Given the description of an element on the screen output the (x, y) to click on. 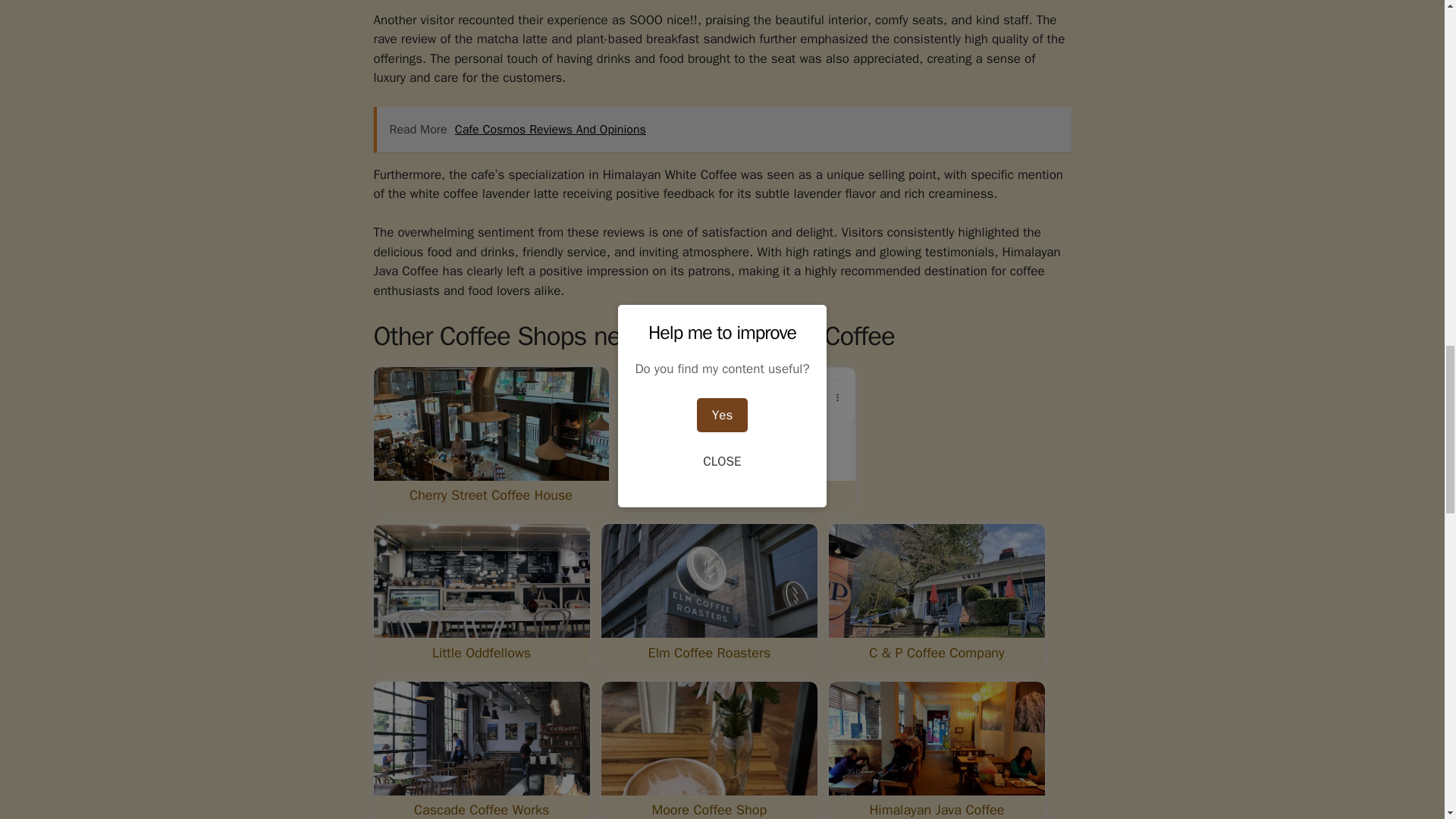
Himalayan Java Coffee Reviews And Opinions 2 (738, 423)
Himalayan Java Coffee Reviews And Opinions 1 (490, 423)
